Given the description of an element on the screen output the (x, y) to click on. 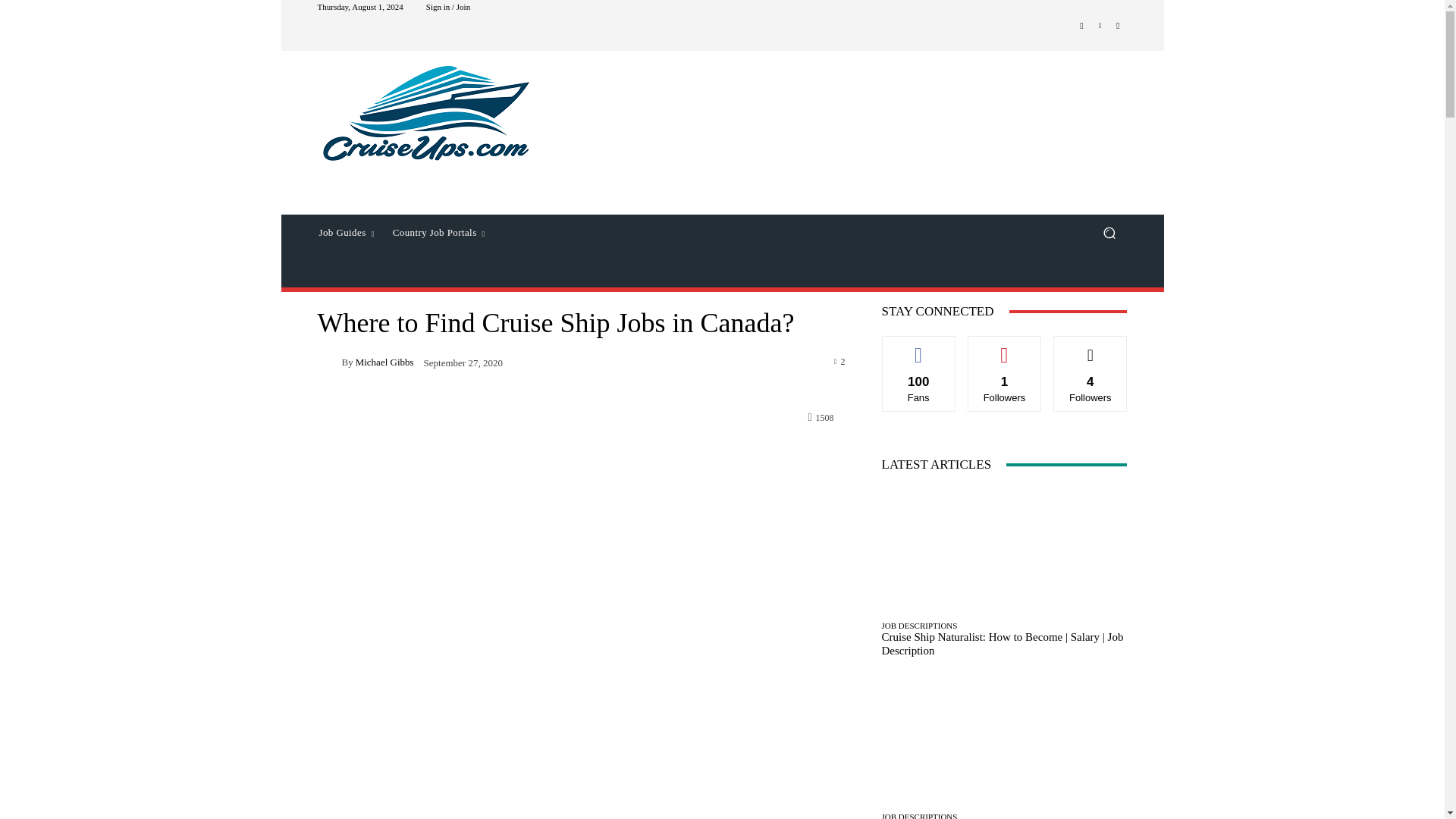
Country Job Portals (439, 232)
CruiseUps.com (426, 114)
Twitter (1117, 25)
CruiseUps.com (425, 114)
Job Guides (345, 232)
Facebook (1080, 25)
Pinterest (1099, 25)
